Given the description of an element on the screen output the (x, y) to click on. 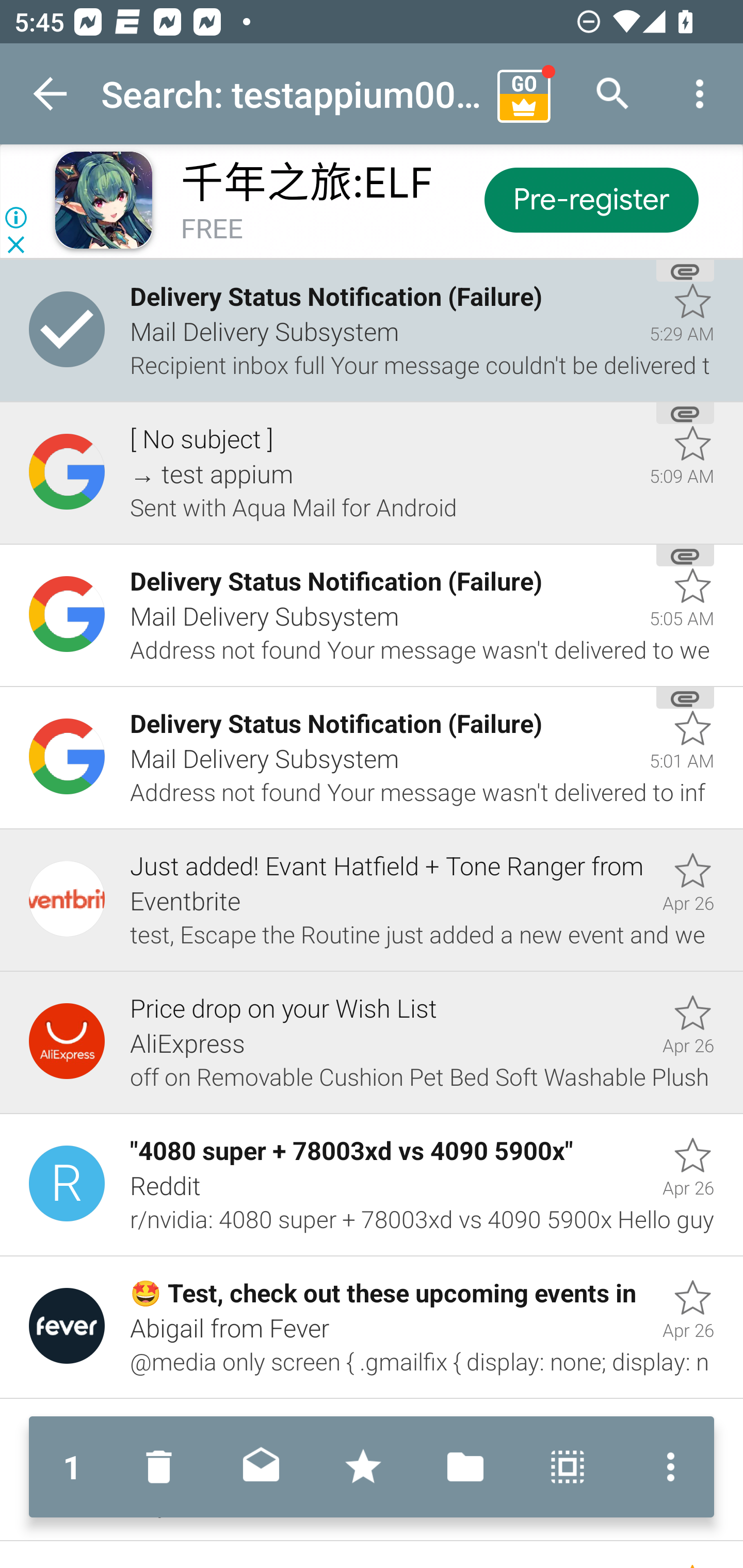
Navigate up (50, 93)
Search (612, 93)
More options (699, 93)
千年之旅:ELF (306, 183)
Pre-register (590, 199)
FREE (211, 230)
1 1 message (71, 1466)
Move to Deleted (162, 1466)
Mark read (261, 1466)
Mark with stars (363, 1466)
Move to folder… (465, 1466)
Select all (567, 1466)
More options (666, 1466)
